Given the description of an element on the screen output the (x, y) to click on. 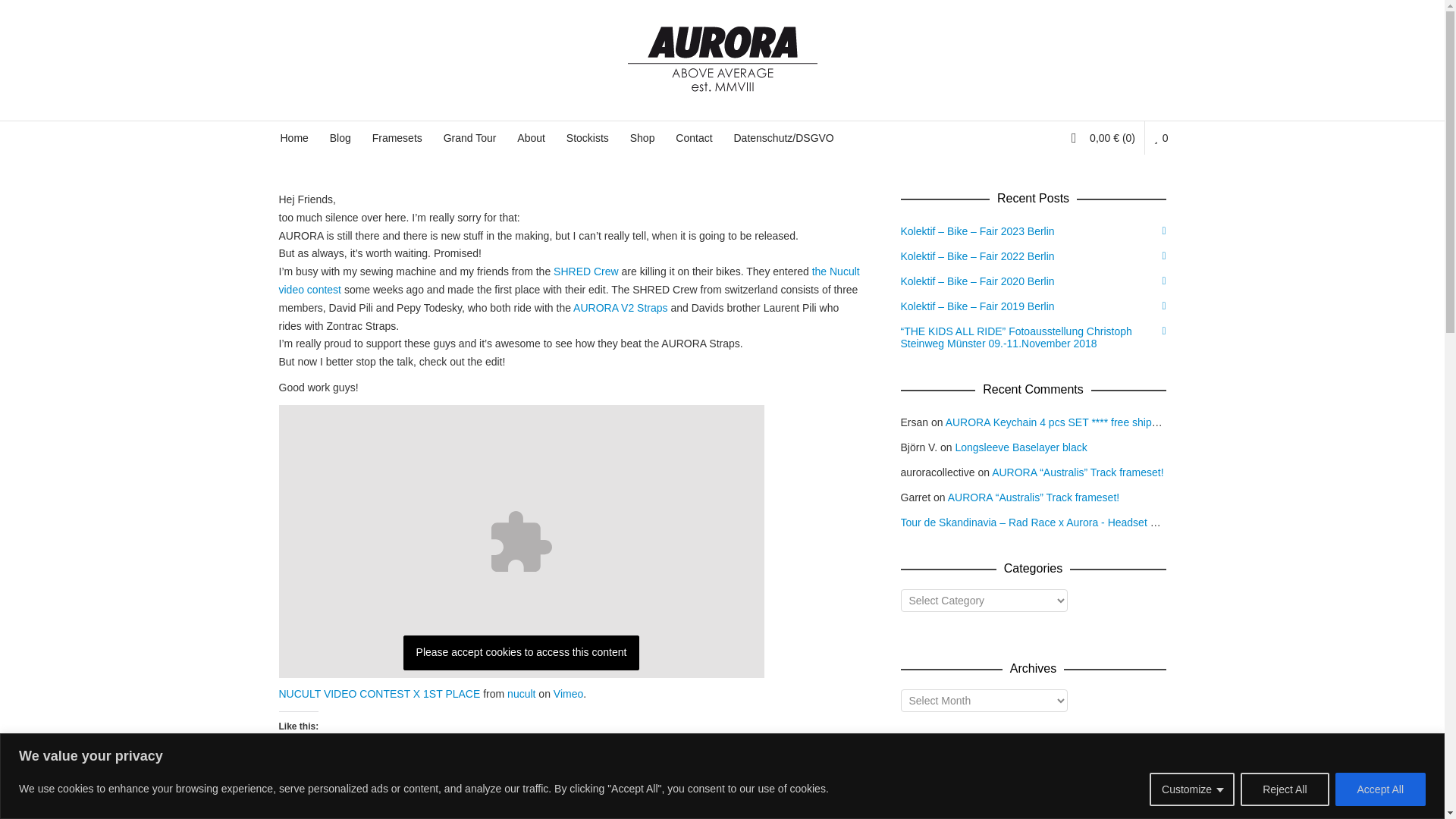
The Nucult (836, 271)
Stockists (587, 137)
Grand Tour (469, 137)
Shred Crew (585, 271)
Framesets (396, 137)
Contact (693, 137)
AURORA V2 Velcro Straps (620, 307)
View your shopping bag (1107, 137)
The Nucult Video Contest (310, 289)
Customize (1192, 788)
View your wishlist (1160, 137)
Blog (339, 137)
Shop (642, 137)
Accept All (1380, 788)
0 (1160, 137)
